Given the description of an element on the screen output the (x, y) to click on. 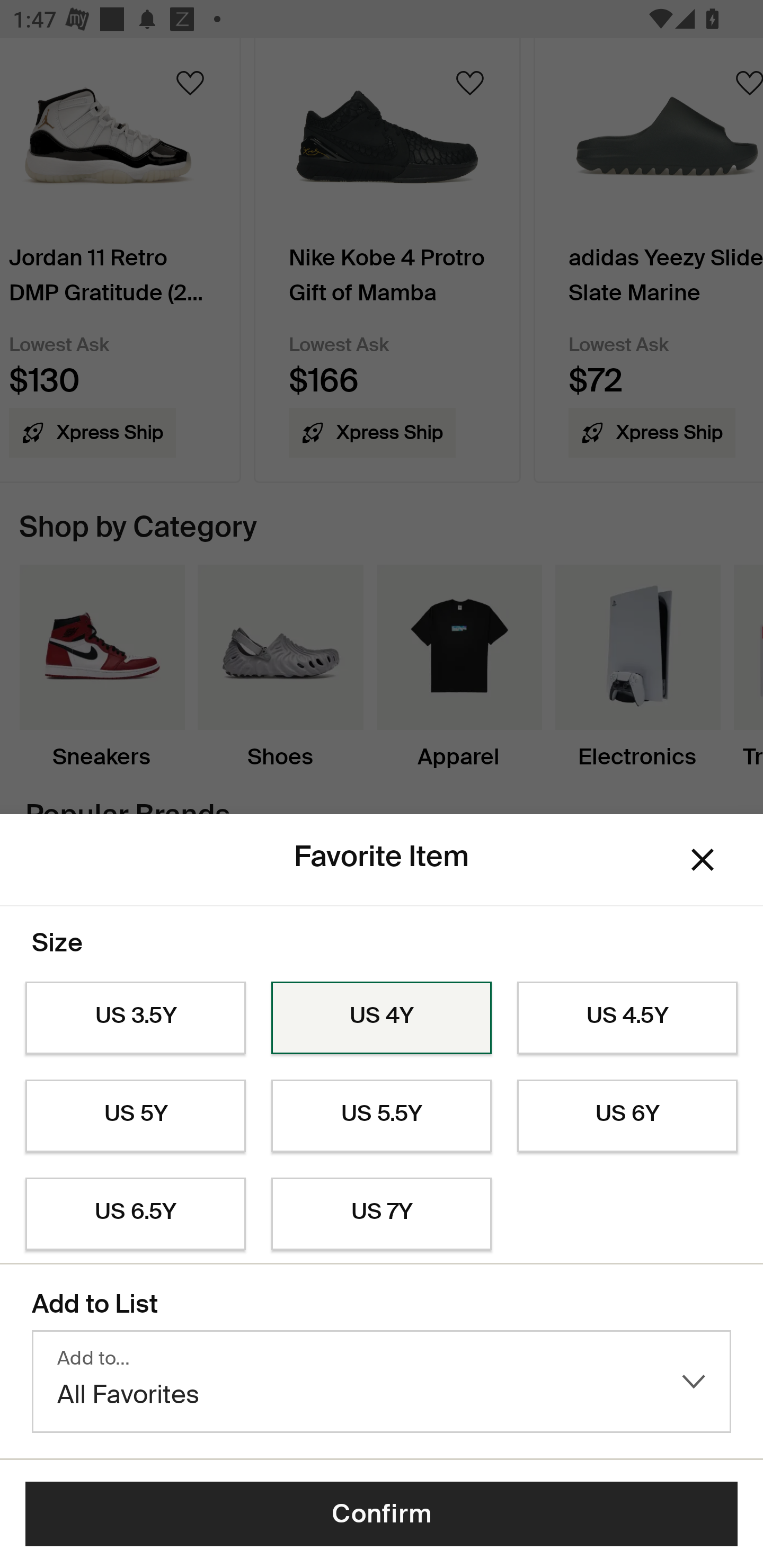
Dismiss (702, 859)
US 3.5Y (135, 1018)
US 4Y (381, 1018)
US 4.5Y (627, 1018)
US 5Y (135, 1116)
US 5.5Y (381, 1116)
US 6Y (627, 1116)
US 6.5Y (135, 1214)
US 7Y (381, 1214)
Add to… All Favorites (381, 1381)
Confirm (381, 1513)
